Given the description of an element on the screen output the (x, y) to click on. 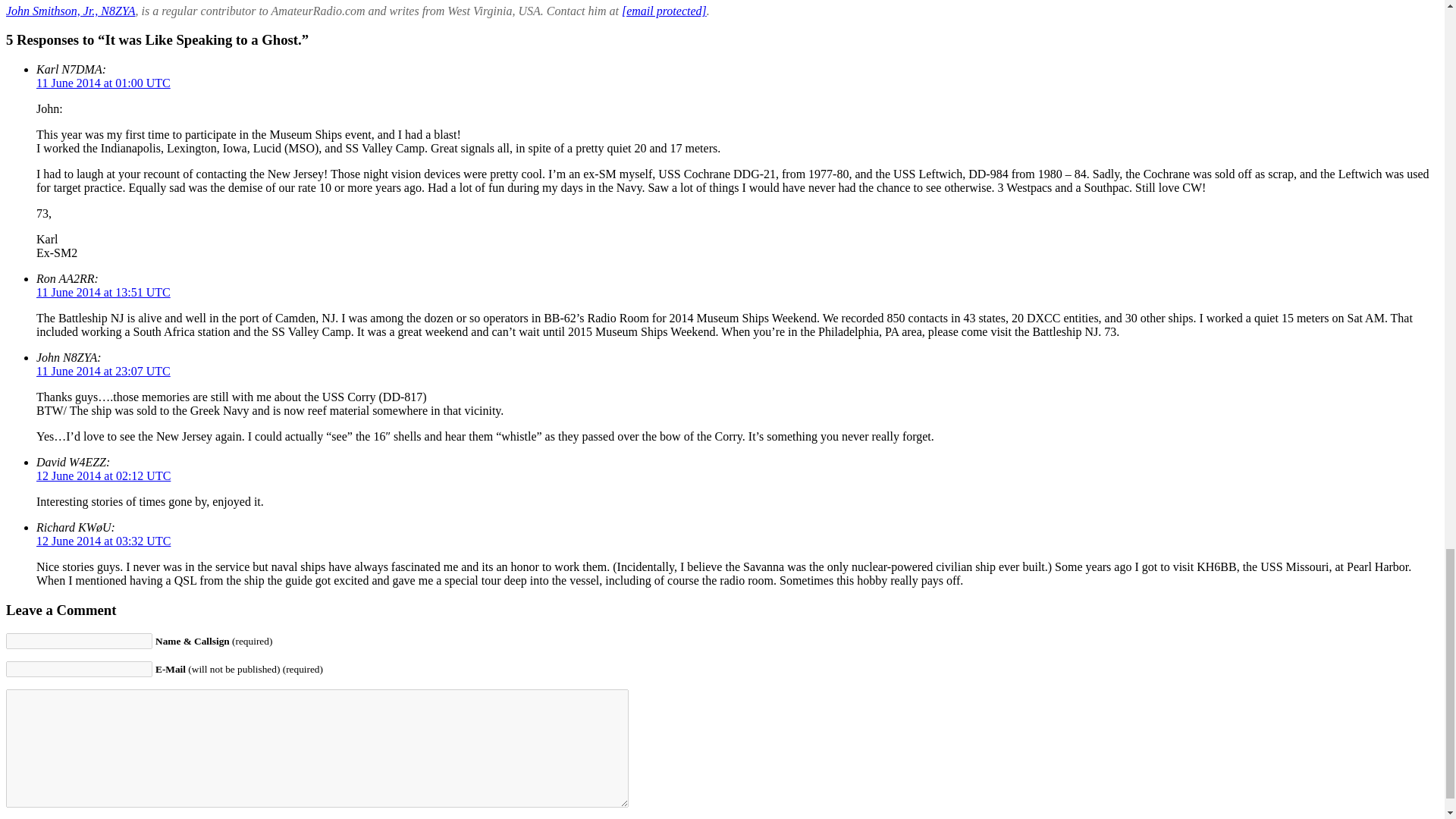
11 June 2014 at 01:00 UTC (103, 82)
12 June 2014 at 02:12 UTC (103, 475)
John Smithson, Jr., N8ZYA (70, 10)
11 June 2014 at 13:51 UTC (103, 291)
12 June 2014 at 03:32 UTC (103, 540)
11 June 2014 at 23:07 UTC (103, 370)
